Given the description of an element on the screen output the (x, y) to click on. 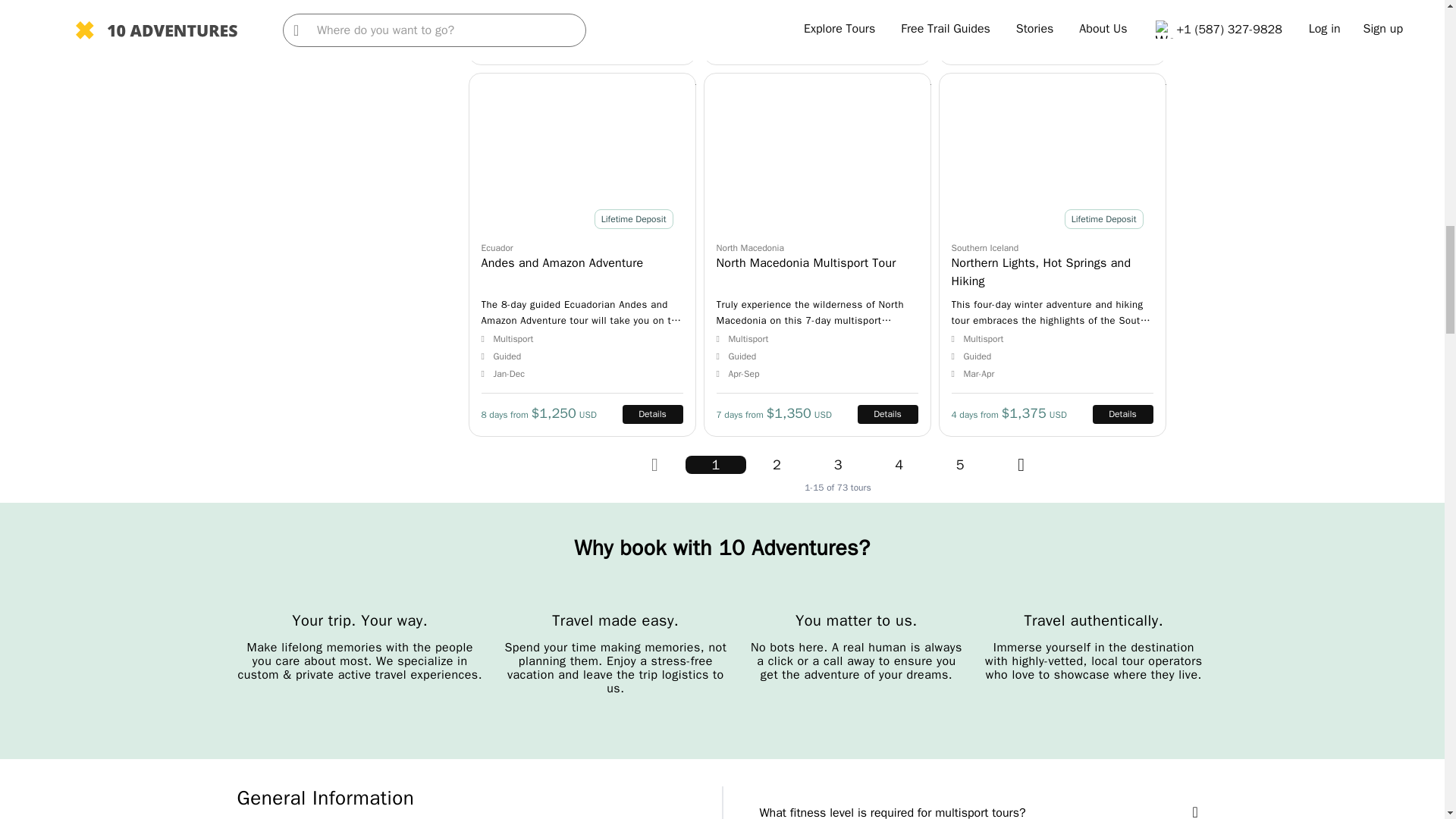
Open details for 5-Day Waorani Expedition (1052, 32)
Open details for Vietnam Multisport and Culture Tour (817, 32)
Open details for Puglia Snorkelling Adventure (581, 32)
